Given the description of an element on the screen output the (x, y) to click on. 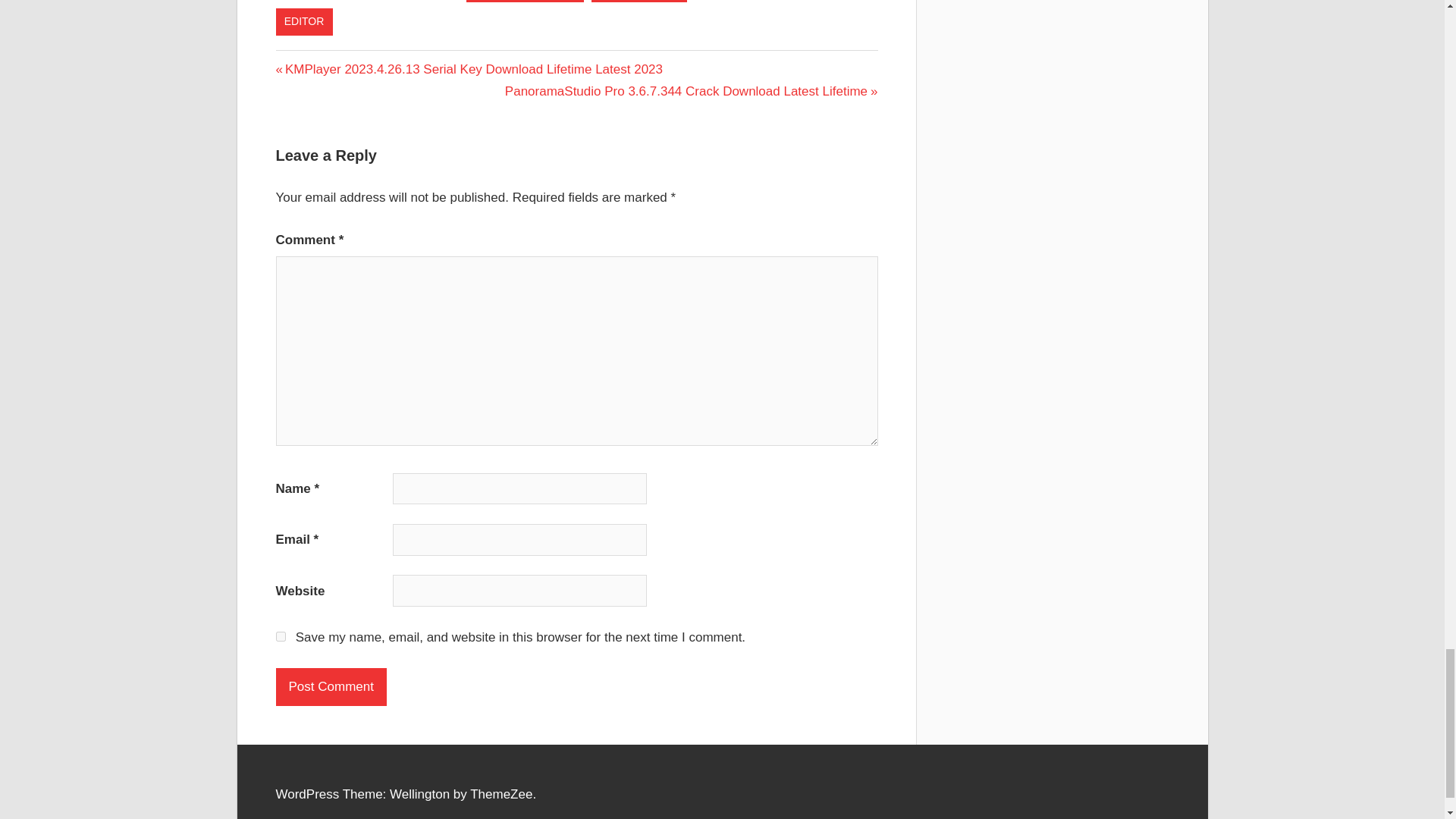
Post Comment (331, 686)
yes (280, 636)
EDITOR (304, 22)
Crack Only (639, 1)
